Given the description of an element on the screen output the (x, y) to click on. 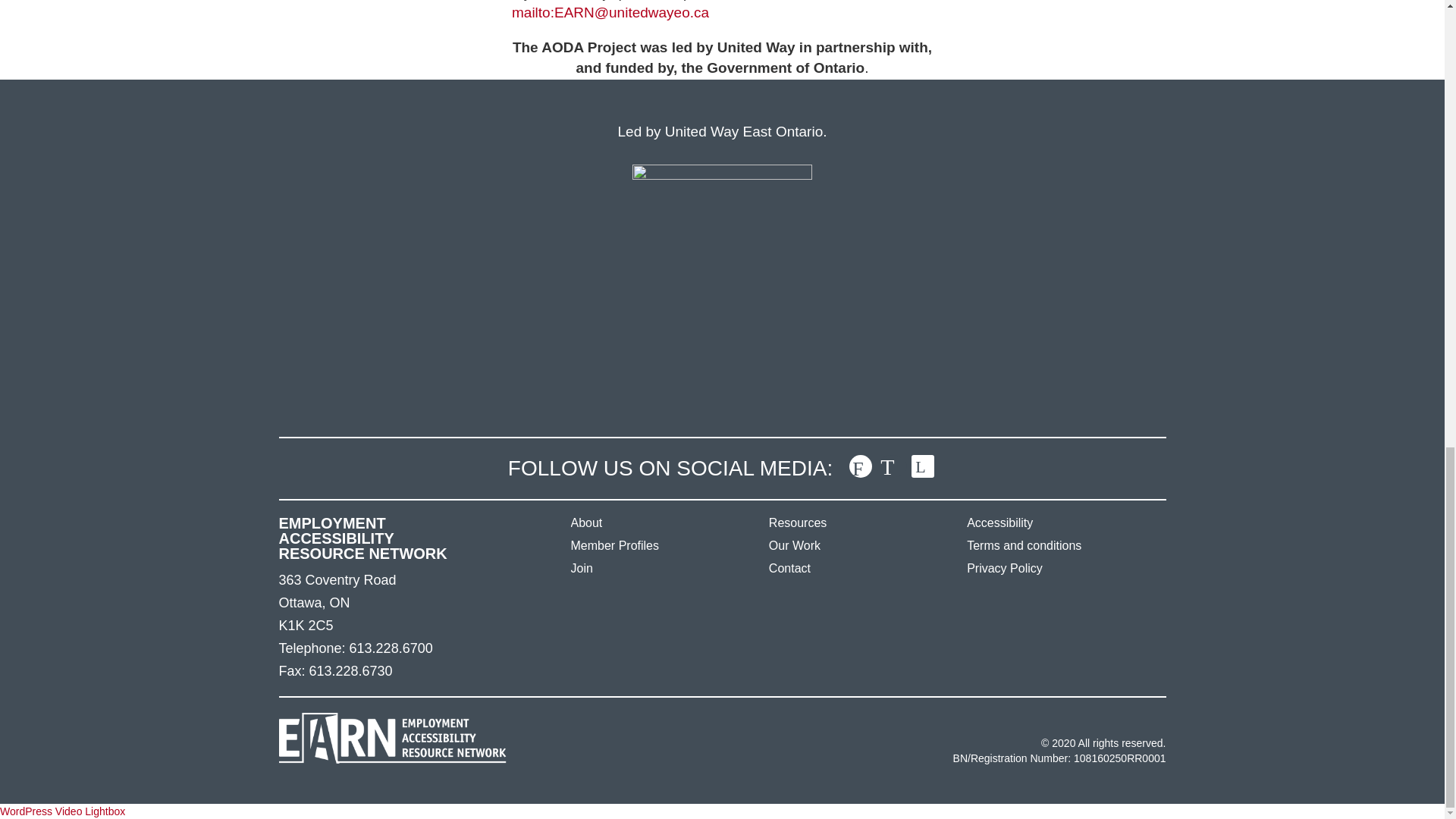
WordPress Video Lightbox (62, 811)
